Given the description of an element on the screen output the (x, y) to click on. 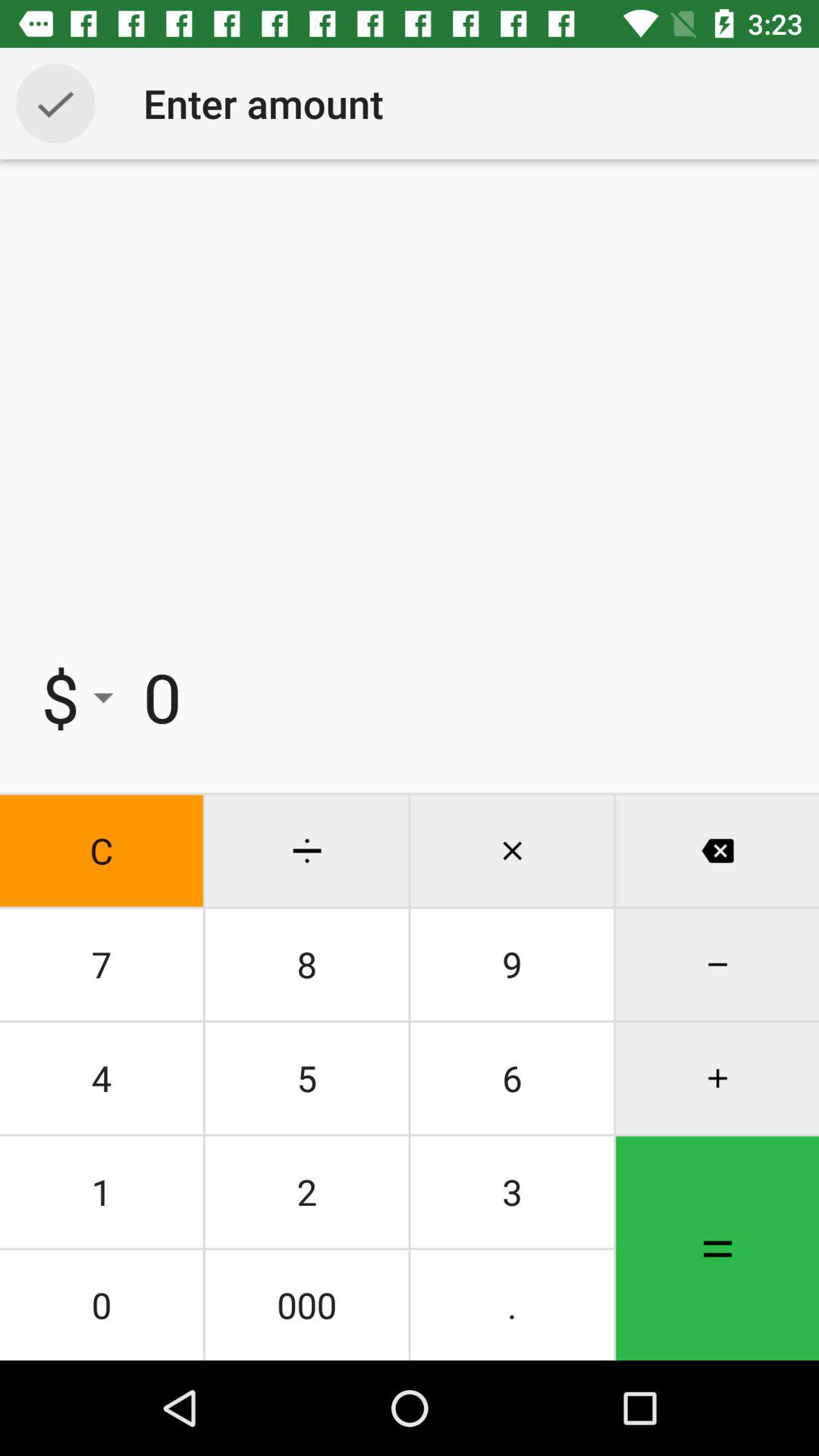
choose 2 (306, 1191)
